Given the description of an element on the screen output the (x, y) to click on. 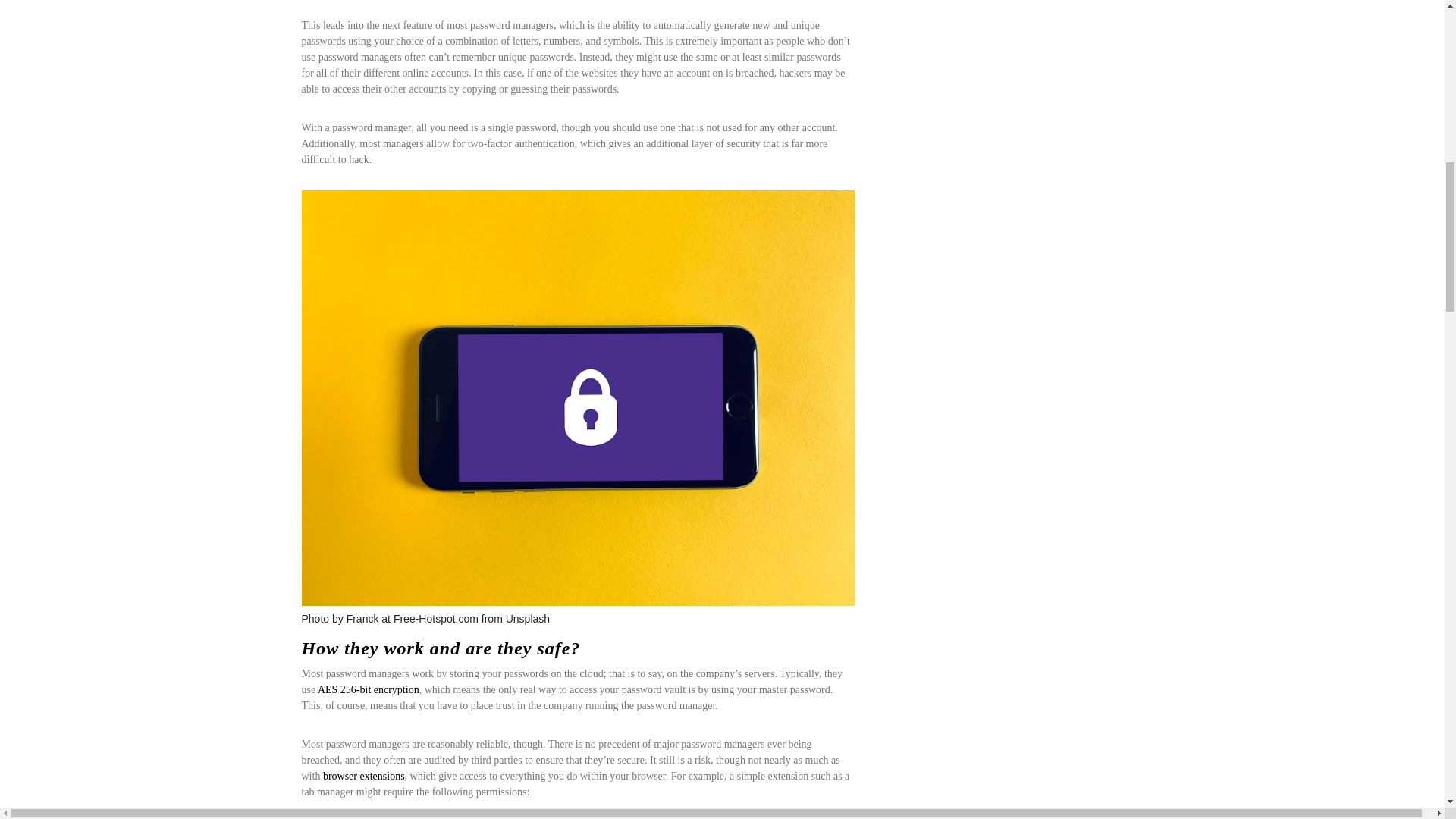
browser extensions (363, 776)
AES 256-bit encryption (368, 689)
